Given the description of an element on the screen output the (x, y) to click on. 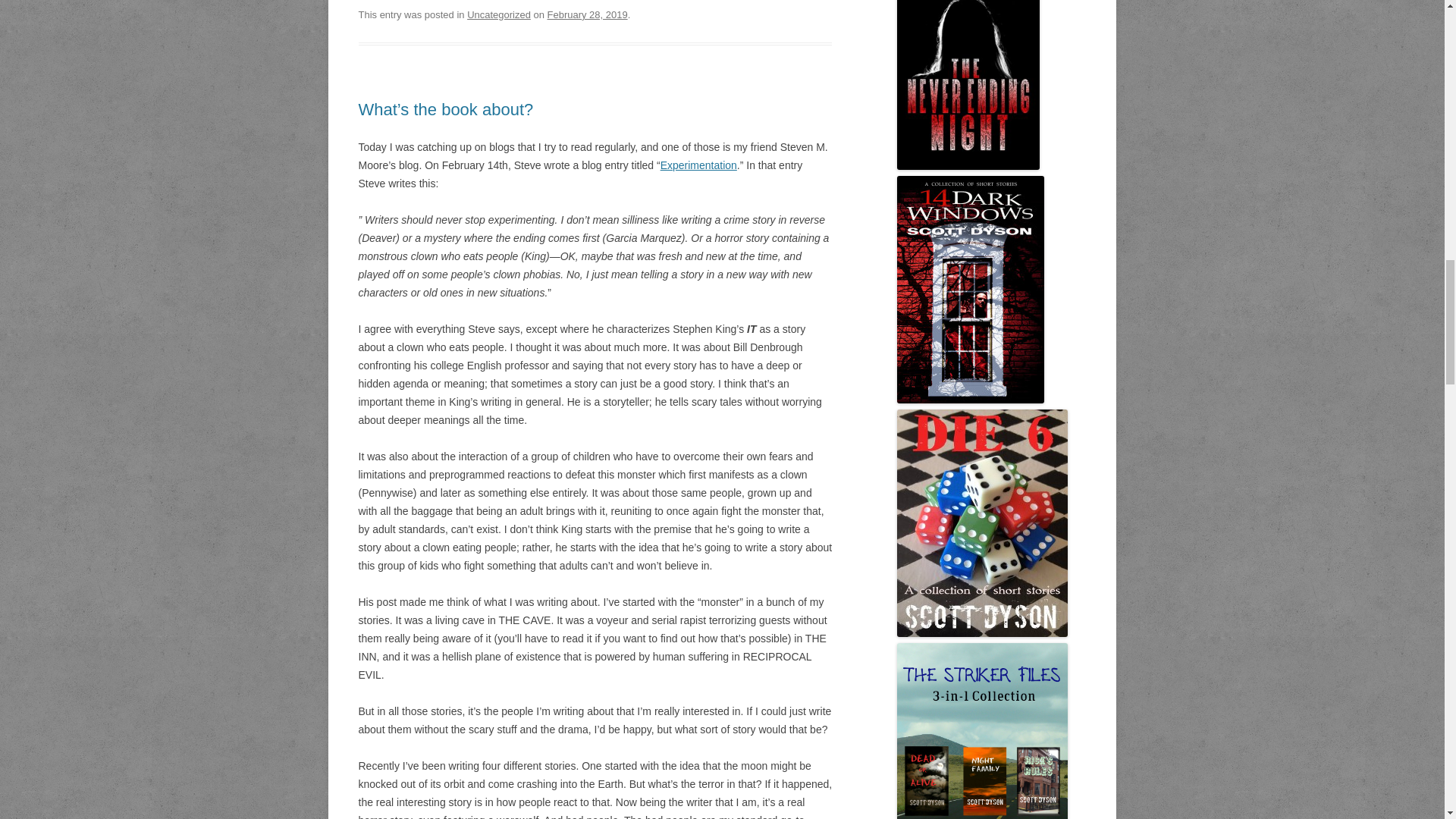
Uncategorized (499, 14)
February 28, 2019 (587, 14)
Experimentation (698, 164)
11:55 am (587, 14)
